Given the description of an element on the screen output the (x, y) to click on. 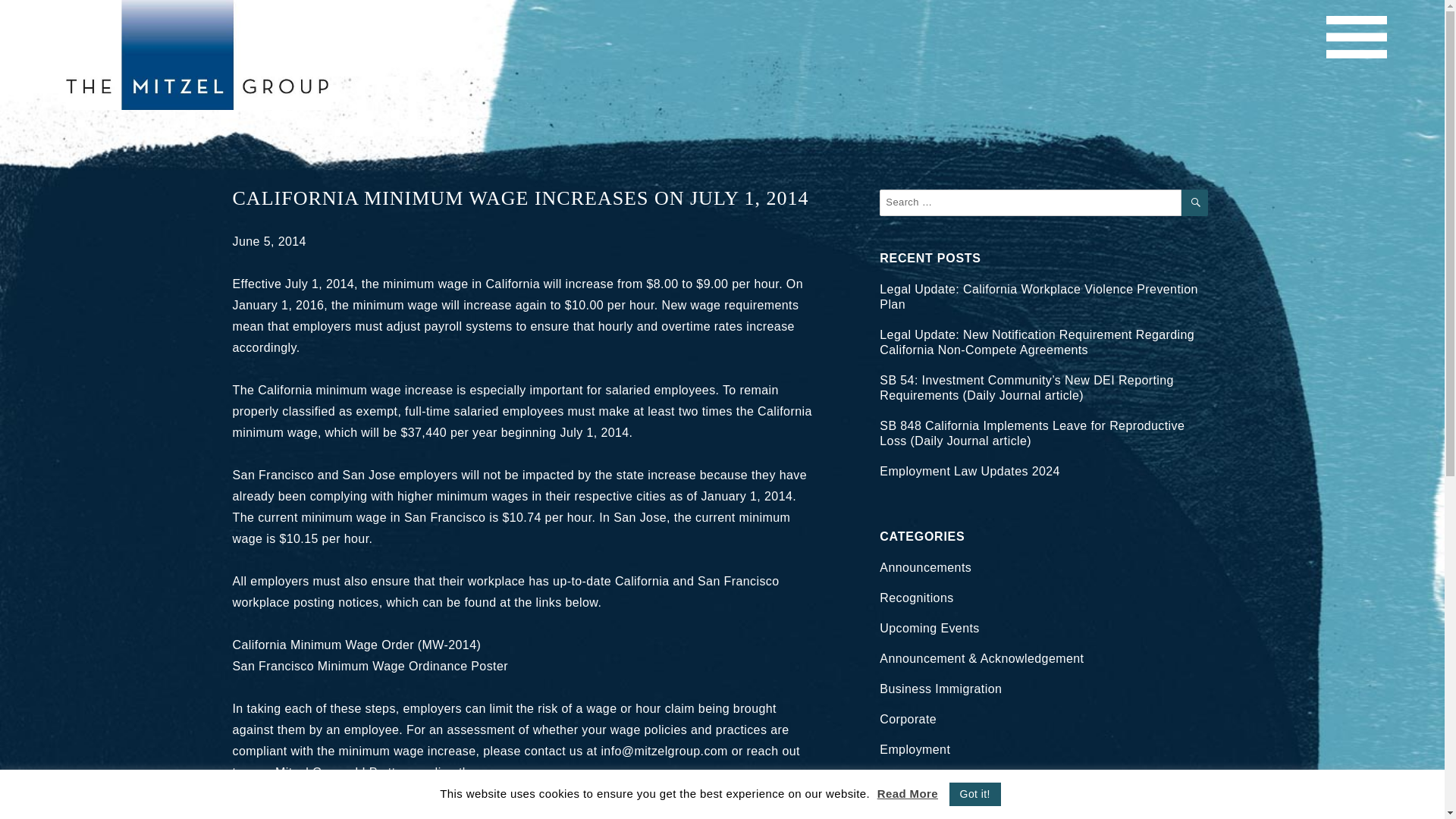
Corporate (907, 718)
Employment Law Updates 2024 (969, 471)
Announcements (925, 567)
Business Immigration (940, 688)
SF Minimum Wage (370, 666)
San Francisco Minimum Wage Ordinance Poster (370, 666)
Recognitions (916, 597)
SEARCH (1194, 202)
Legal Update: California Workplace Violence Prevention Plan (1037, 296)
Upcoming Events (928, 627)
Minimum Wage (356, 644)
Employment (914, 748)
